Given the description of an element on the screen output the (x, y) to click on. 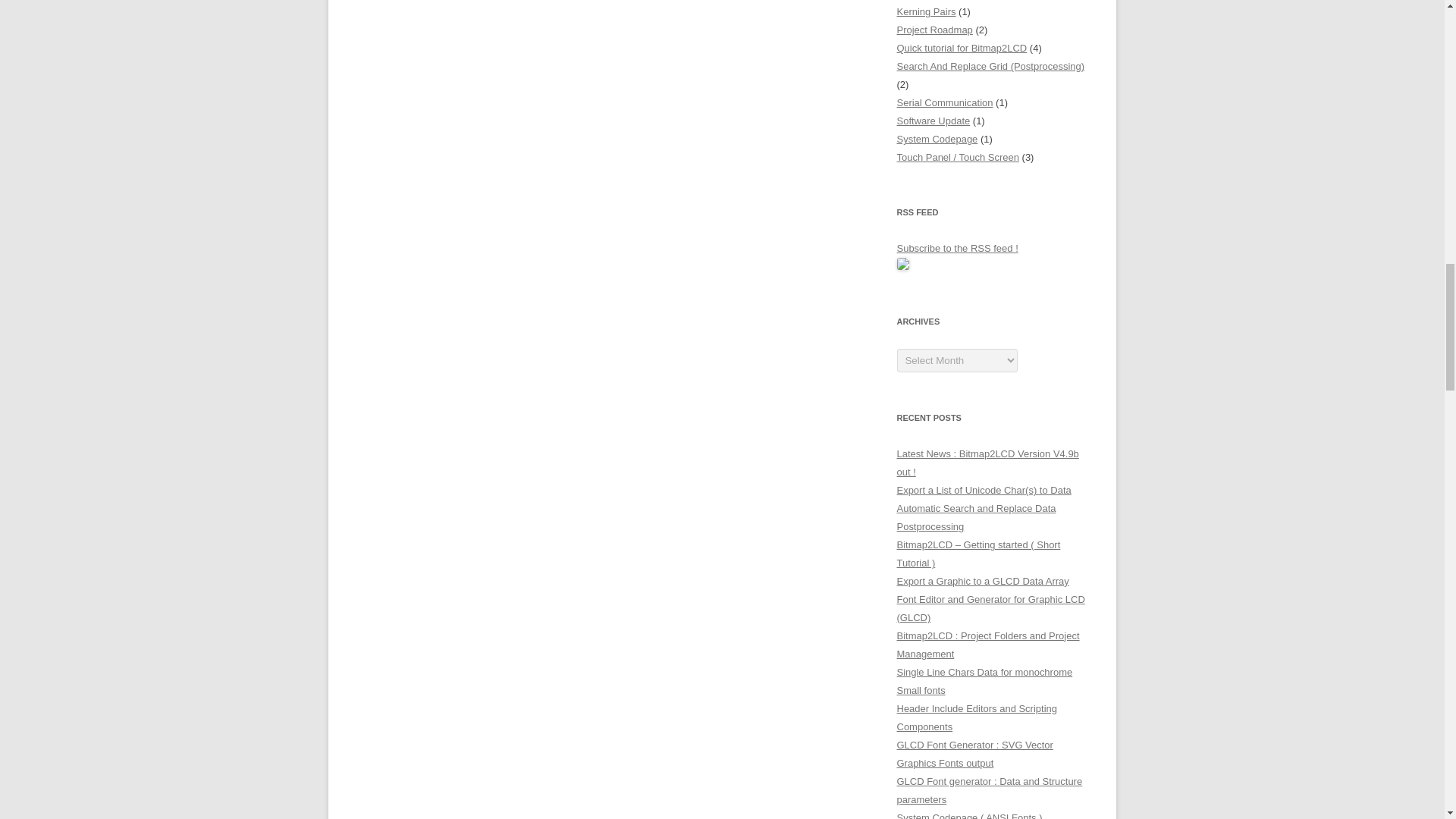
RSS feed (902, 263)
